Given the description of an element on the screen output the (x, y) to click on. 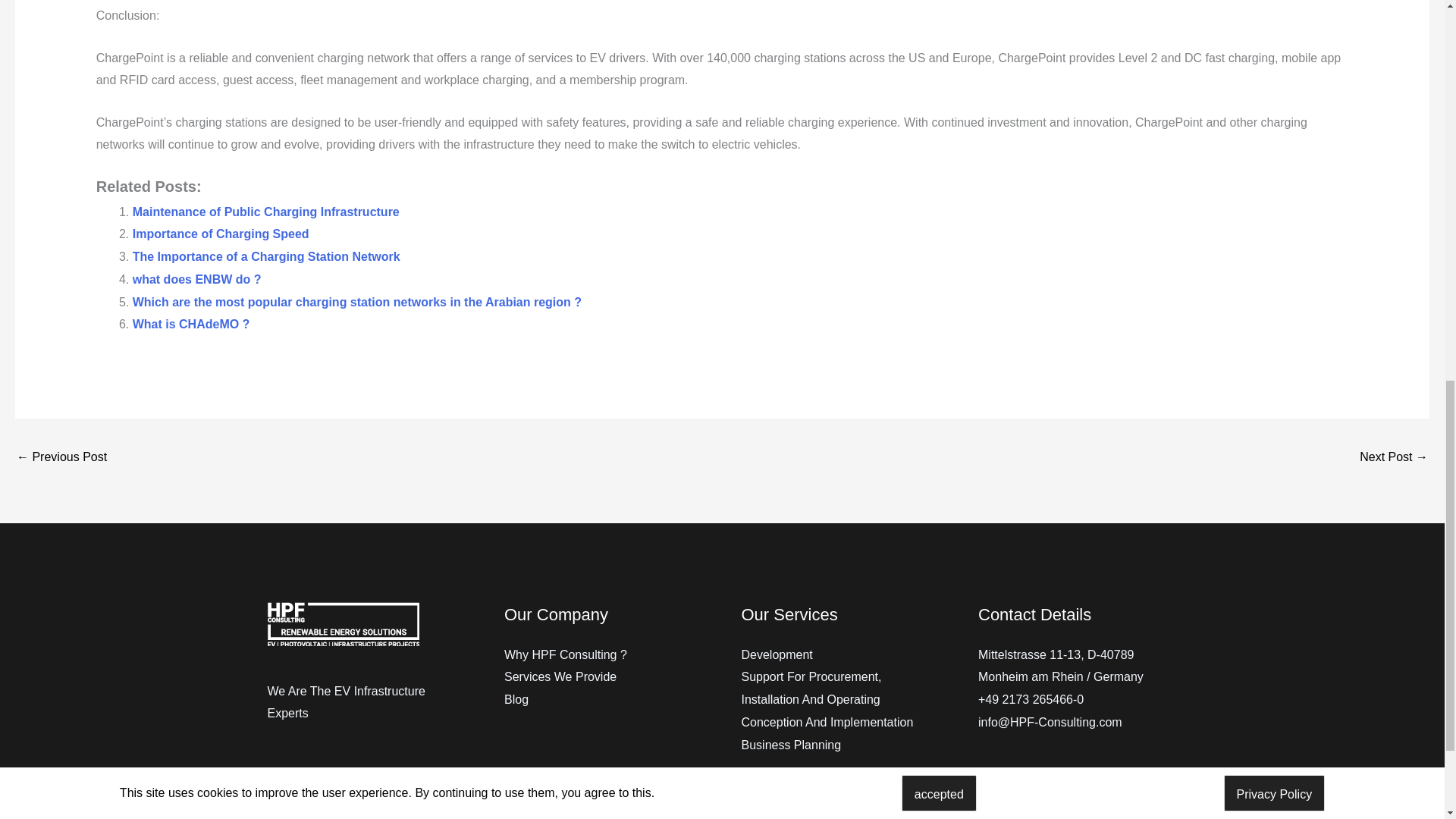
Maintenance of Public Charging Infrastructure (265, 211)
what does ENBW do ? (197, 278)
Conception And Implementation (827, 721)
Development (776, 654)
What is CHAdeMO ? (191, 323)
What is CHAdeMO ? (191, 323)
Services We Provide (559, 676)
Maintenance of Public Charging Infrastructure (265, 211)
Importance of Charging Speed (220, 233)
The Importance of a Charging Station Network (266, 256)
Blog (515, 698)
The Importance of a Charging Station Network (266, 256)
Why HPF Consulting ? (565, 654)
what does EVgo do ? (1393, 458)
